Given the description of an element on the screen output the (x, y) to click on. 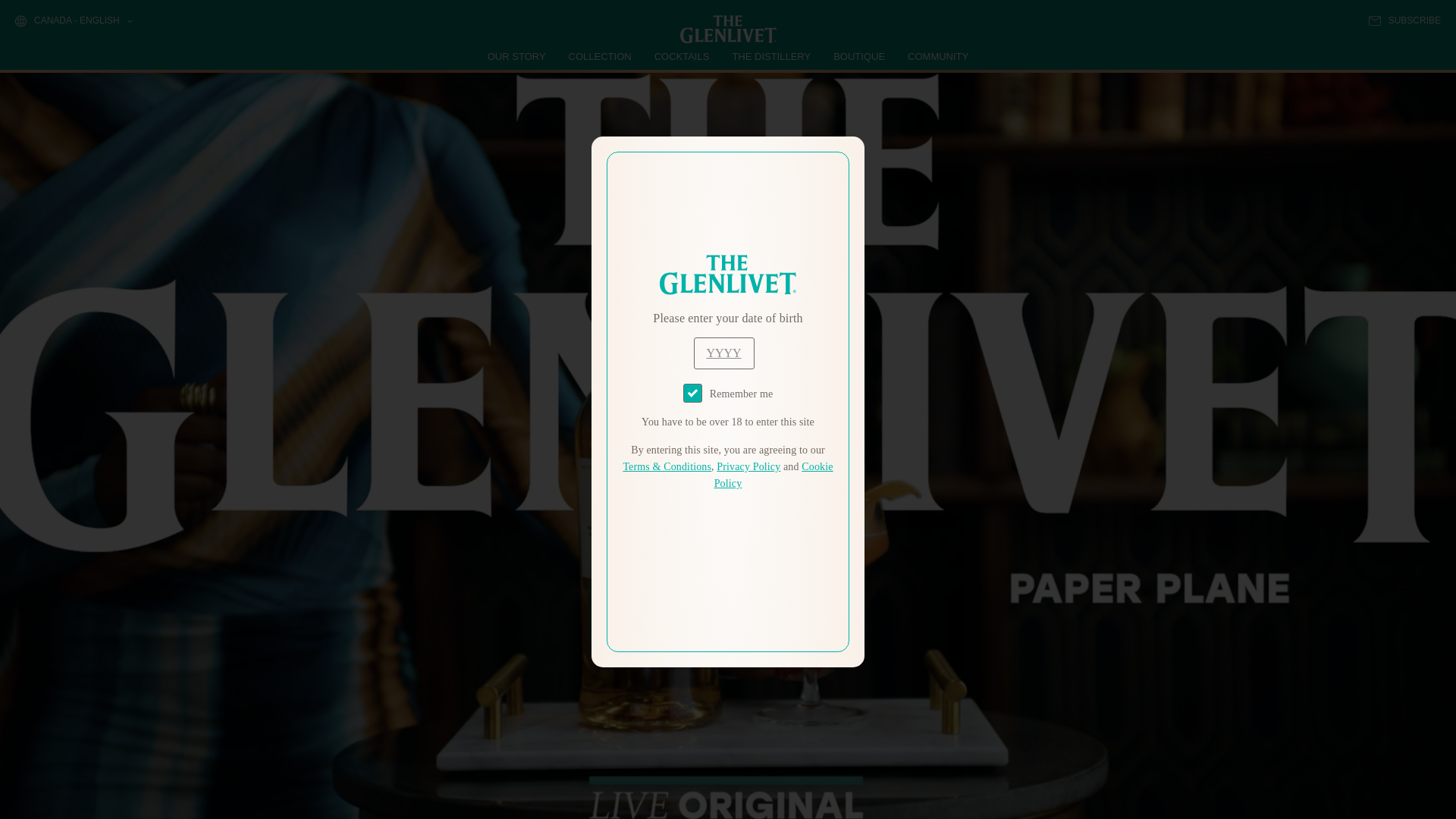
OUR STORY (516, 56)
THE DISTILLERY (771, 56)
year (723, 353)
BOUTIQUE (858, 56)
COLLECTION (600, 56)
COMMUNITY (937, 56)
Cookie Policy (773, 474)
SUBSCRIBE (1404, 20)
COCKTAILS (681, 56)
Privacy Policy (748, 466)
